Given the description of an element on the screen output the (x, y) to click on. 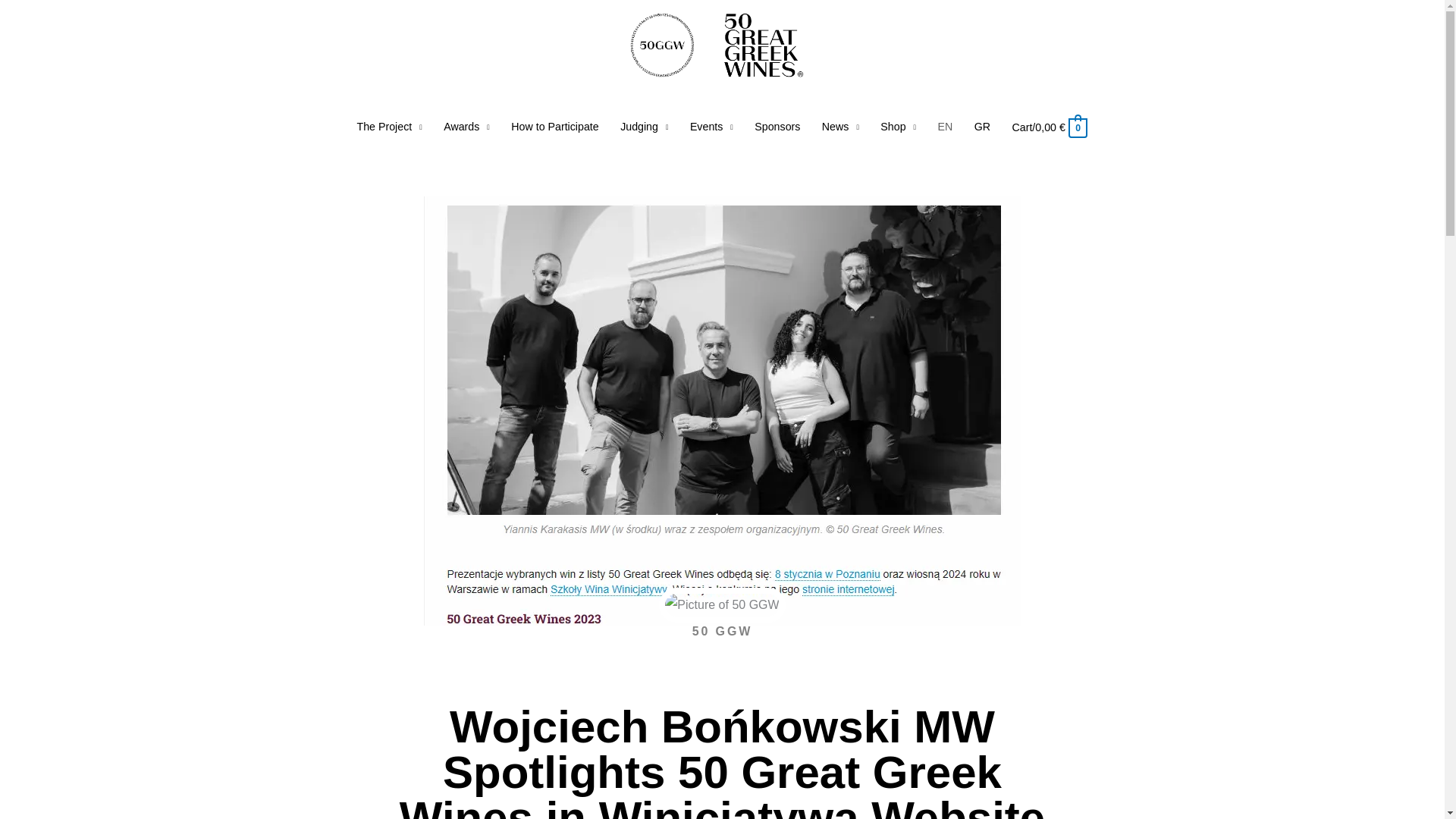
Events (711, 127)
The Project (389, 127)
Judging (644, 127)
How to Participate (555, 127)
Awards (466, 127)
